Given the description of an element on the screen output the (x, y) to click on. 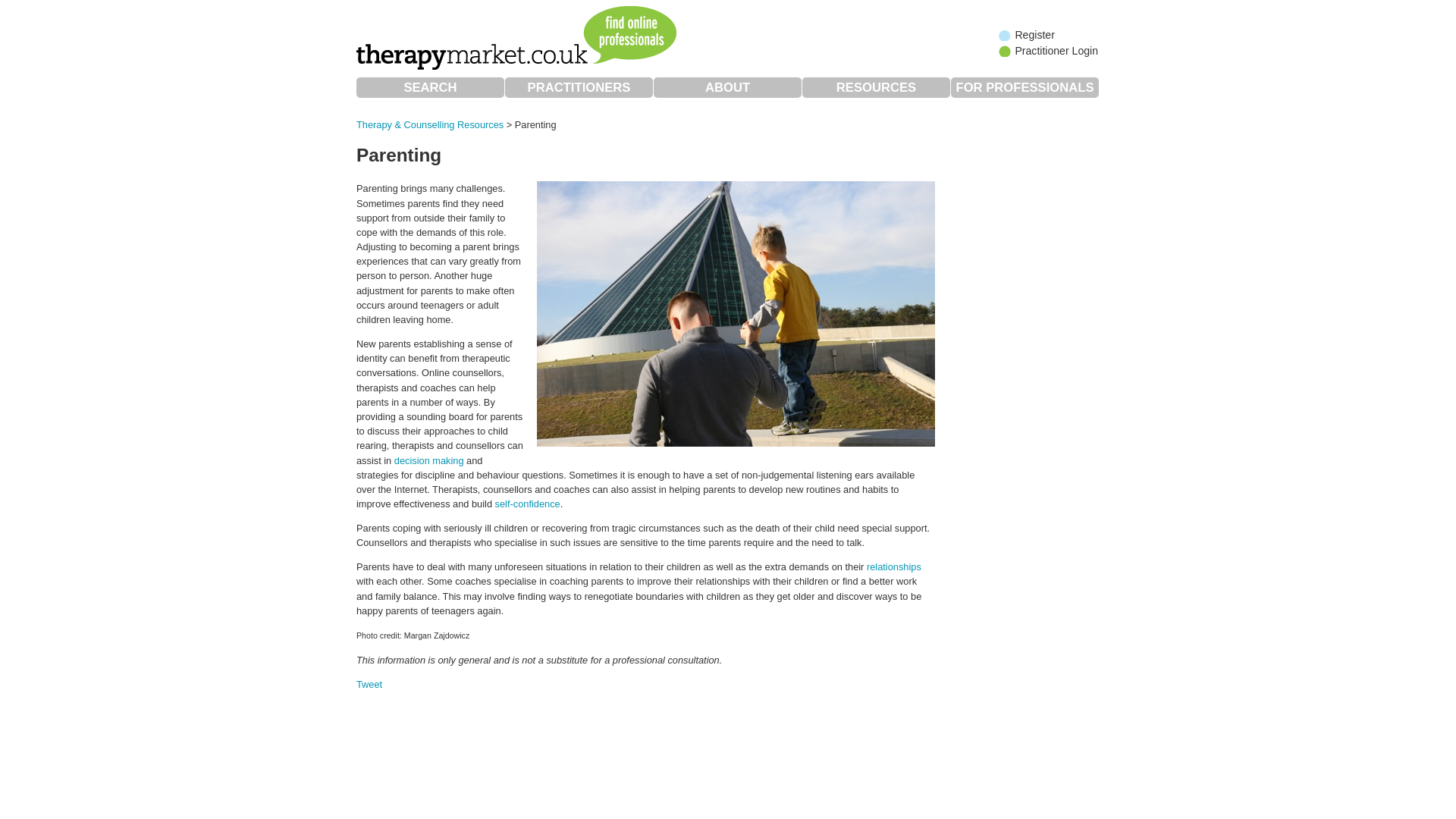
ABOUT (727, 86)
PRACTITIONERS (578, 86)
FOR PROFESSIONALS (1024, 86)
Register (1026, 34)
Find an online therapist, counsellor or coach (519, 38)
decision making (429, 460)
RESOURCES (876, 86)
SEARCH (429, 86)
self-confidence (527, 503)
Practitioner Login (1047, 50)
